Given the description of an element on the screen output the (x, y) to click on. 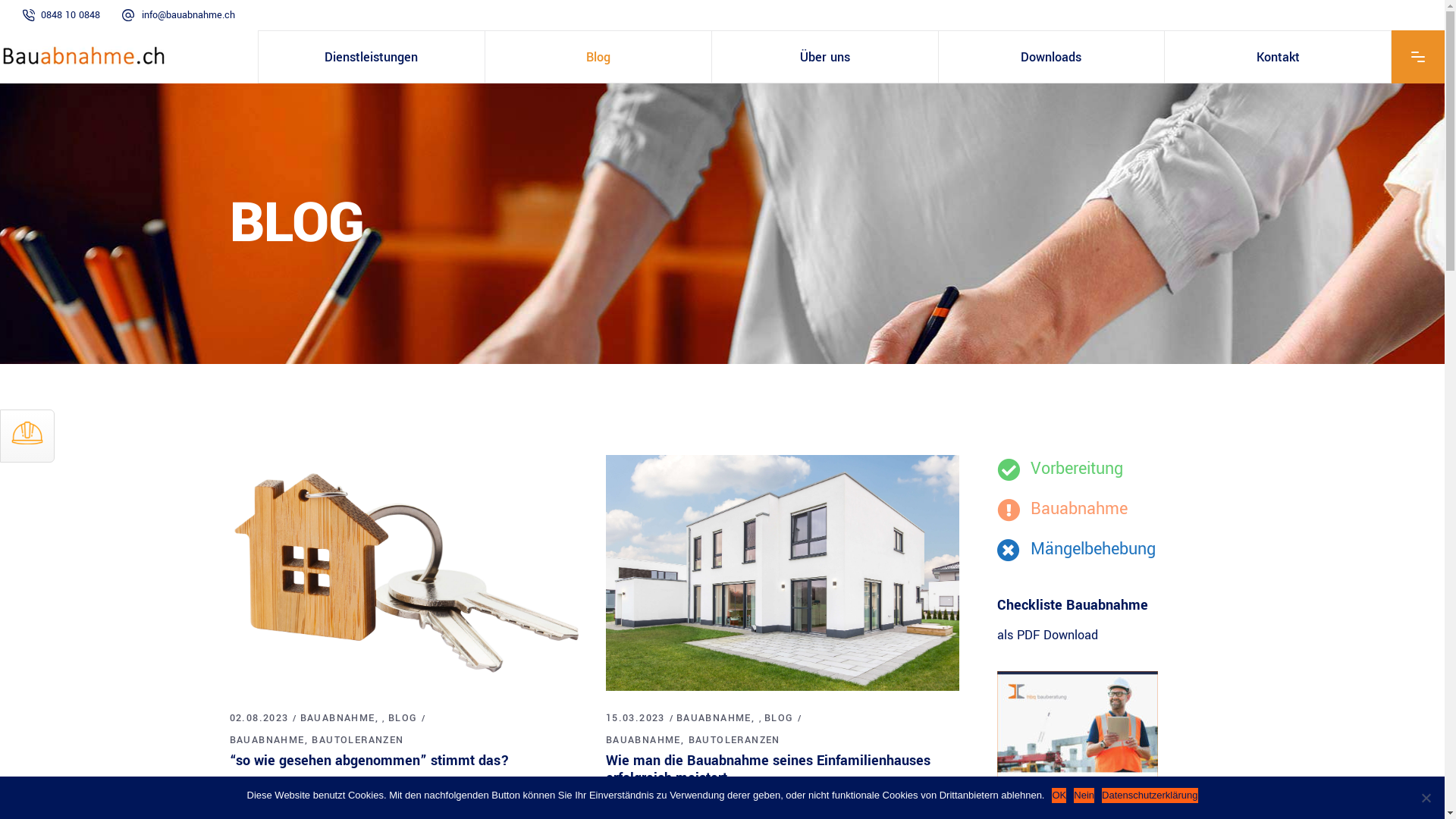
als PDF Download Element type: text (1047, 634)
BAUABNAHME Element type: text (717, 717)
0848 10 0848 Element type: text (70, 14)
15.03.2023 Element type: text (635, 717)
BAUABNAHME Element type: text (270, 739)
Downloads Element type: text (1051, 56)
BAUTOLERANZEN Element type: text (357, 739)
Bauabnahme Element type: text (1062, 508)
Nein Element type: text (1083, 795)
Dienstleistungen Element type: text (371, 56)
BAUABNAHME Element type: text (341, 717)
02.08.2023 Element type: text (258, 717)
BLOG Element type: text (402, 717)
BLOG Element type: text (778, 717)
Kontakt Element type: text (1277, 56)
Nein Element type: hover (1425, 797)
BAUABNAHME Element type: text (646, 739)
Blog Element type: text (598, 56)
BAUTOLERANZEN Element type: text (734, 739)
info@bauabnahme.ch Element type: text (188, 14)
Vorbereitung Element type: text (1060, 468)
OK Element type: text (1058, 795)
